Given the description of an element on the screen output the (x, y) to click on. 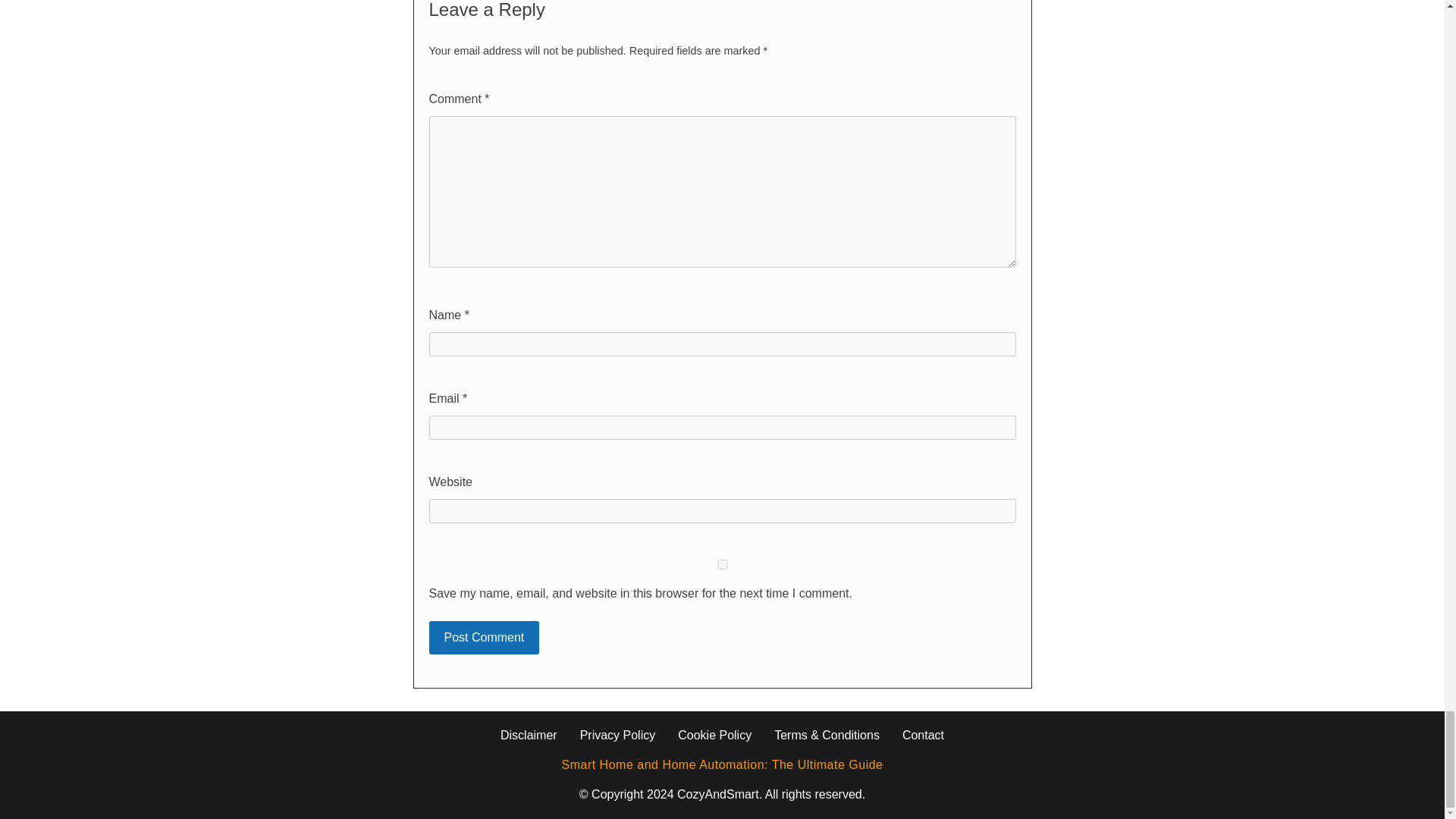
Post Comment (484, 637)
yes (722, 564)
